Given the description of an element on the screen output the (x, y) to click on. 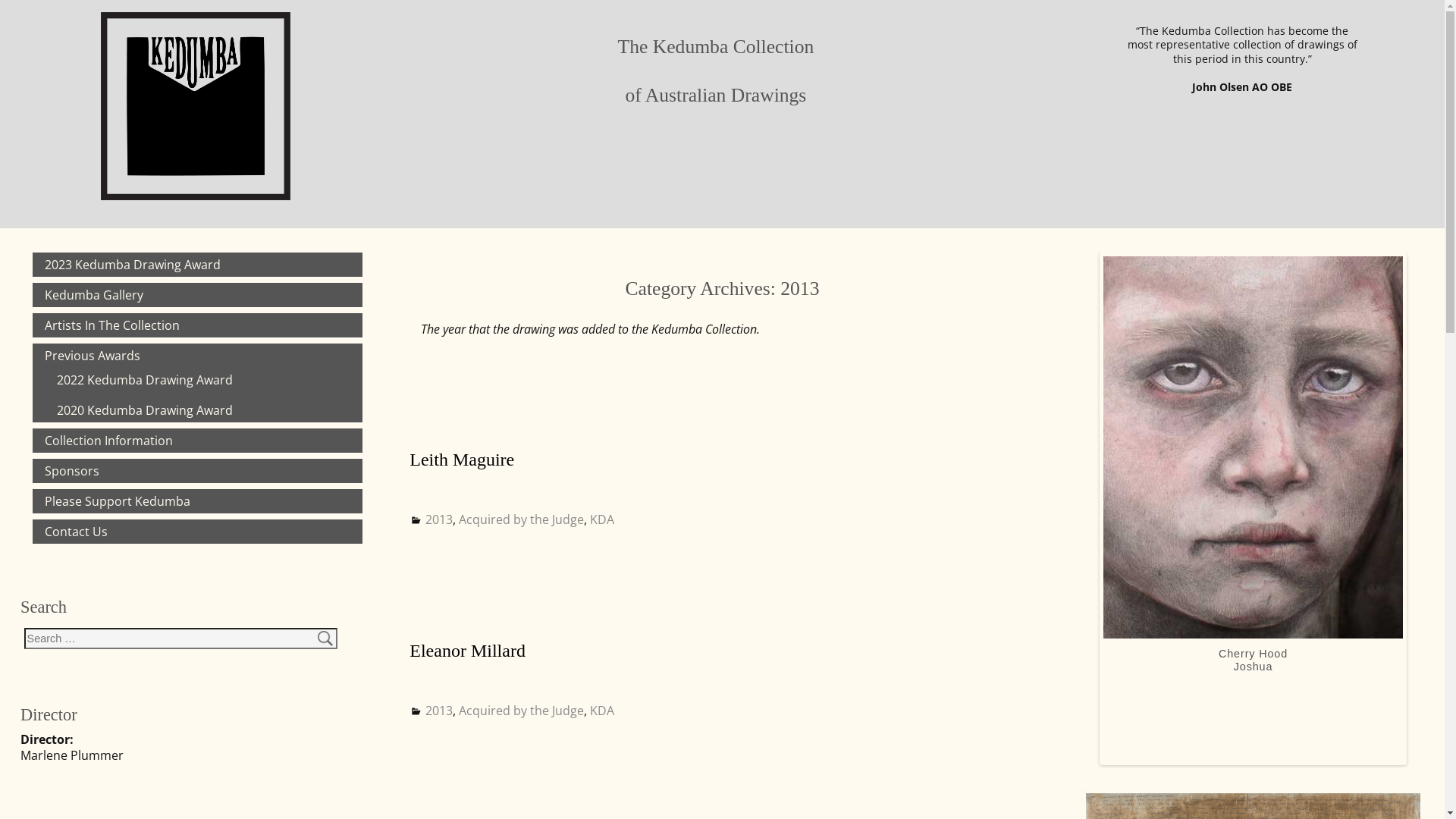
Leith Maguire Element type: text (461, 459)
Please Support Kedumba Element type: text (112, 500)
Contact Us Element type: text (71, 531)
Acquired by the Judge Element type: text (520, 519)
KDA Element type: text (601, 519)
2022 Kedumba Drawing Award Element type: text (139, 379)
Sponsors Element type: text (67, 470)
2013 Element type: text (438, 710)
Artists In The Collection Element type: text (107, 324)
KDA Element type: text (601, 710)
Search Element type: text (21, 7)
Kedumba Gallery Element type: text (89, 294)
Previous Awards Element type: text (87, 355)
2023 Kedumba Drawing Award Element type: text (127, 264)
2020 Kedumba Drawing Award Element type: text (139, 409)
Collection Information Element type: text (103, 440)
Eleanor Millard Element type: text (467, 650)
2013 Element type: text (438, 519)
Acquired by the Judge Element type: text (520, 710)
